Given the description of an element on the screen output the (x, y) to click on. 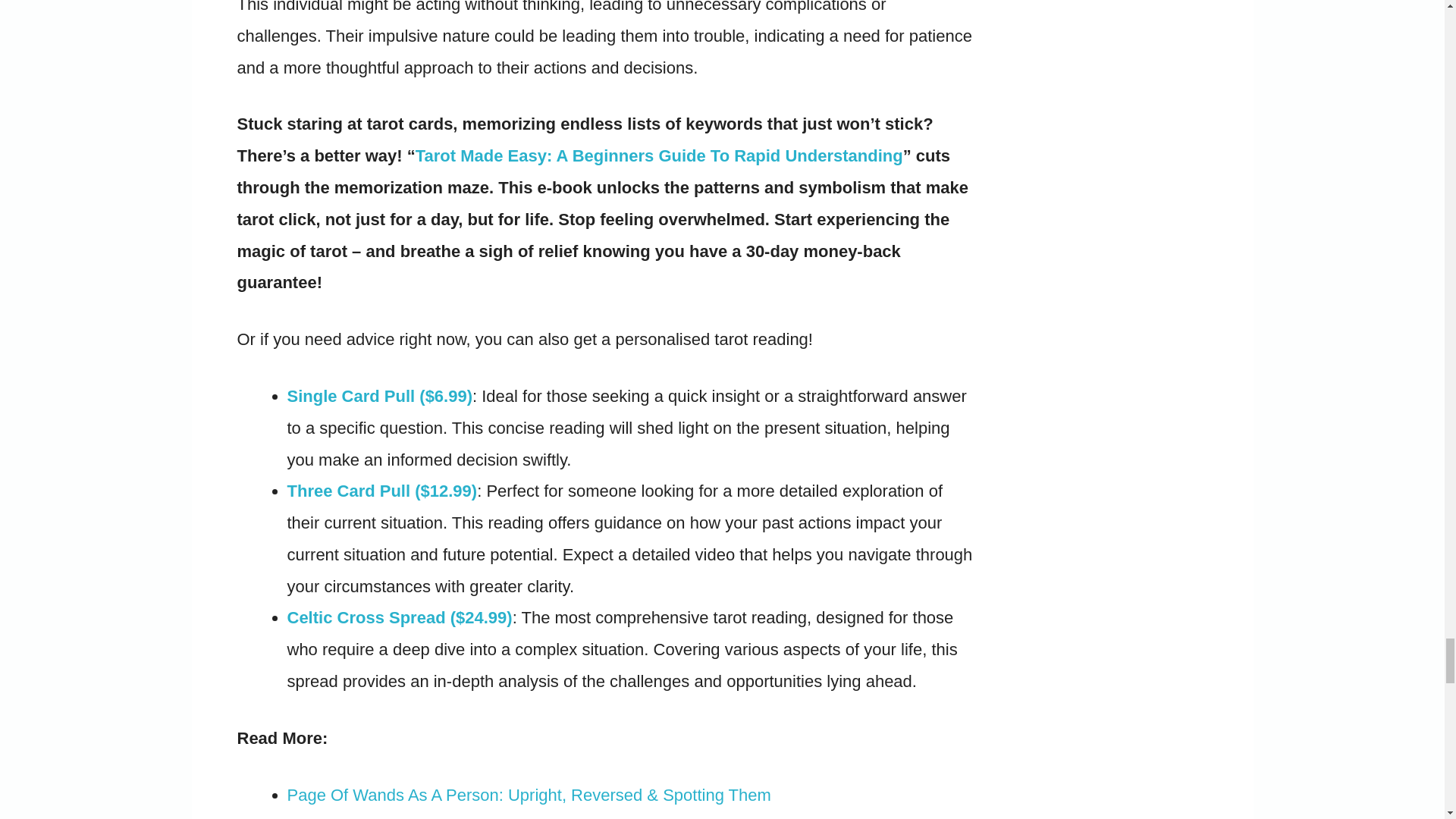
Tarot Made Easy: A Beginners Guide To Rapid Understanding (658, 155)
